Given the description of an element on the screen output the (x, y) to click on. 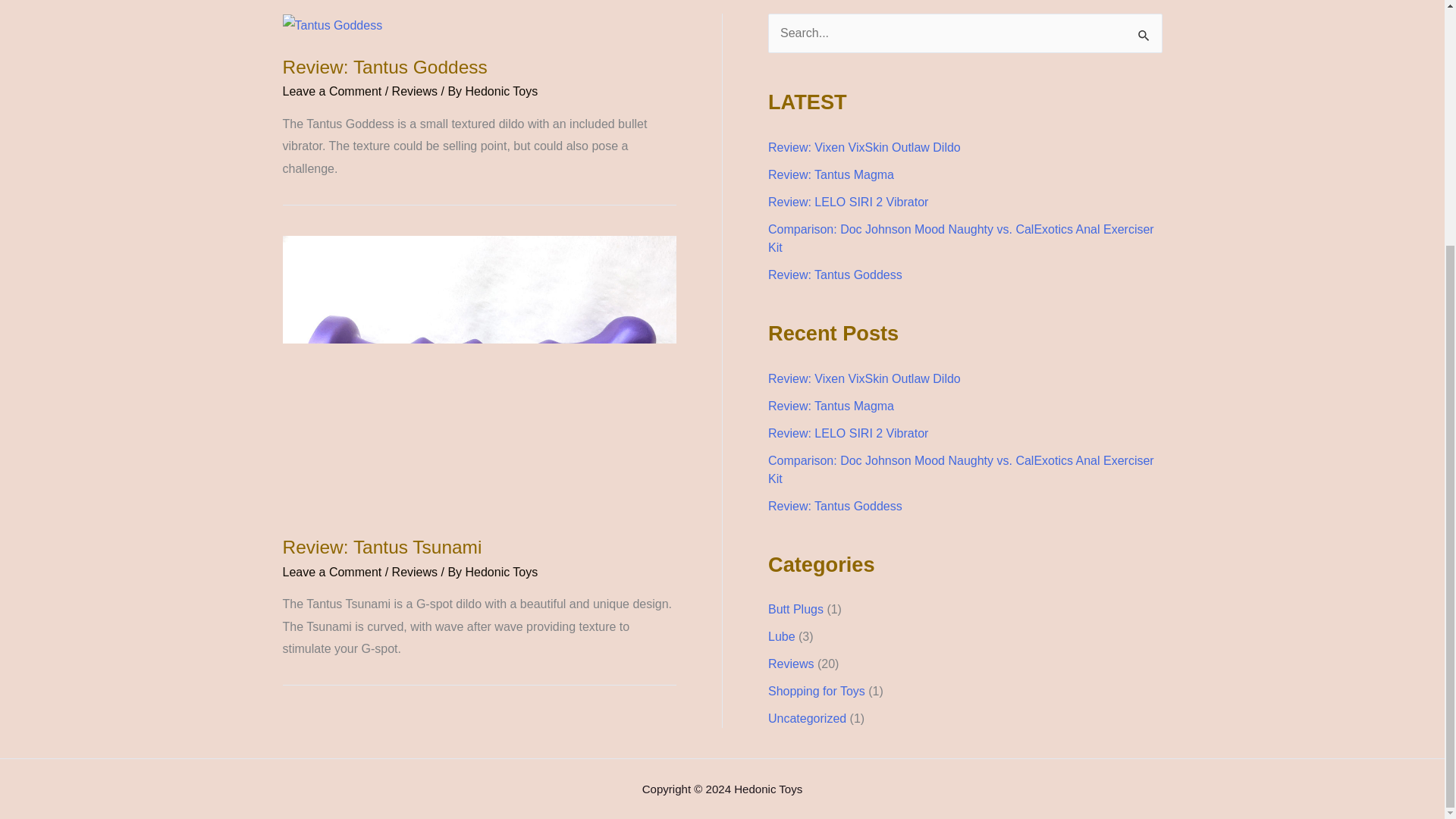
Review: Tantus Tsunami (381, 547)
View all posts by Hedonic Toys (501, 91)
Review: Vixen VixSkin Outlaw Dildo (864, 146)
Hedonic Toys (501, 91)
Review: Tantus Goddess (835, 505)
Review: Tantus Goddess (384, 66)
Hedonic Toys (501, 571)
Review: Tantus Goddess (835, 274)
Leave a Comment (331, 91)
